Given the description of an element on the screen output the (x, y) to click on. 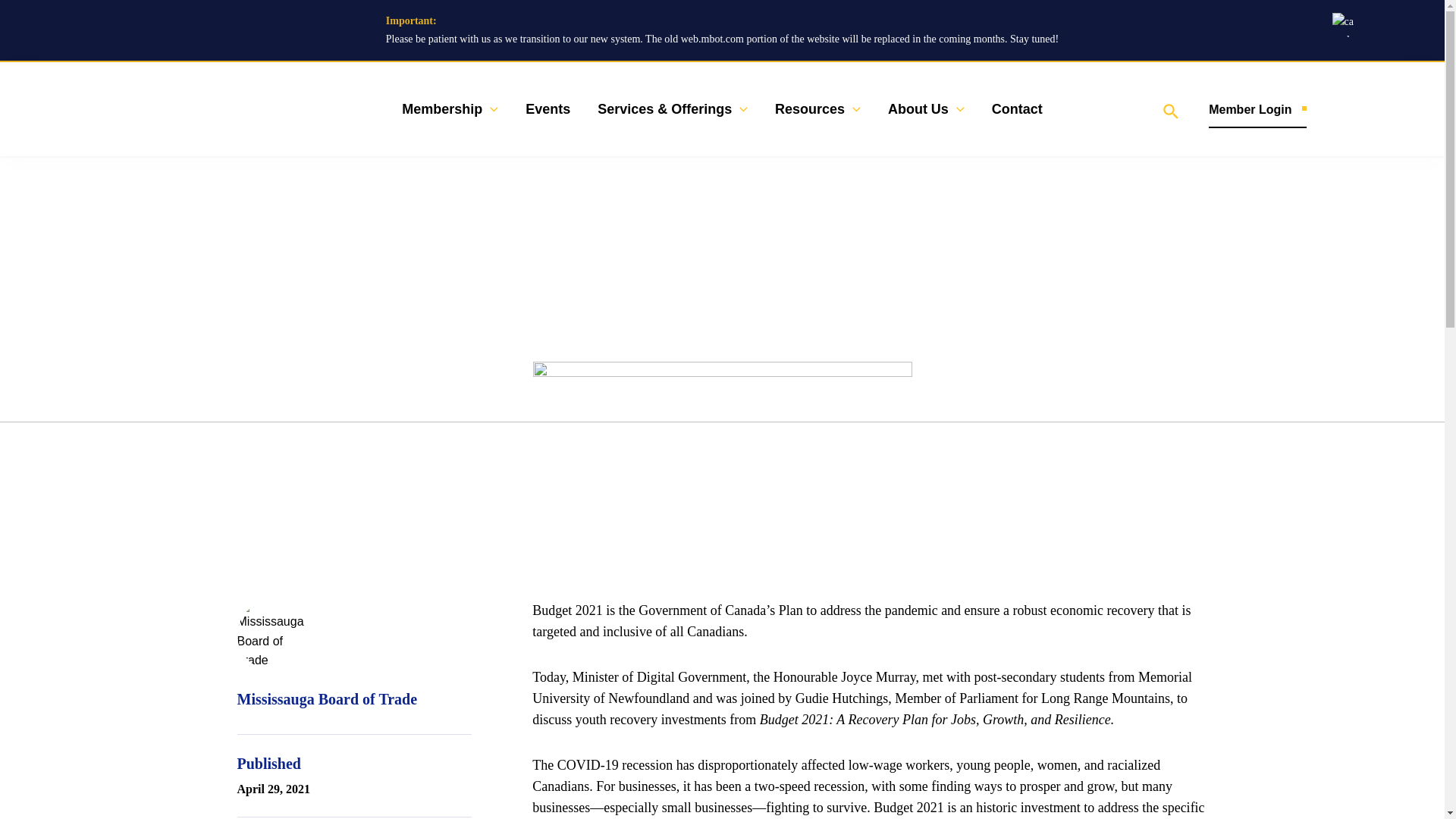
About Us (926, 109)
Member Login (1257, 108)
Resources (818, 109)
Membership (450, 109)
